Given the description of an element on the screen output the (x, y) to click on. 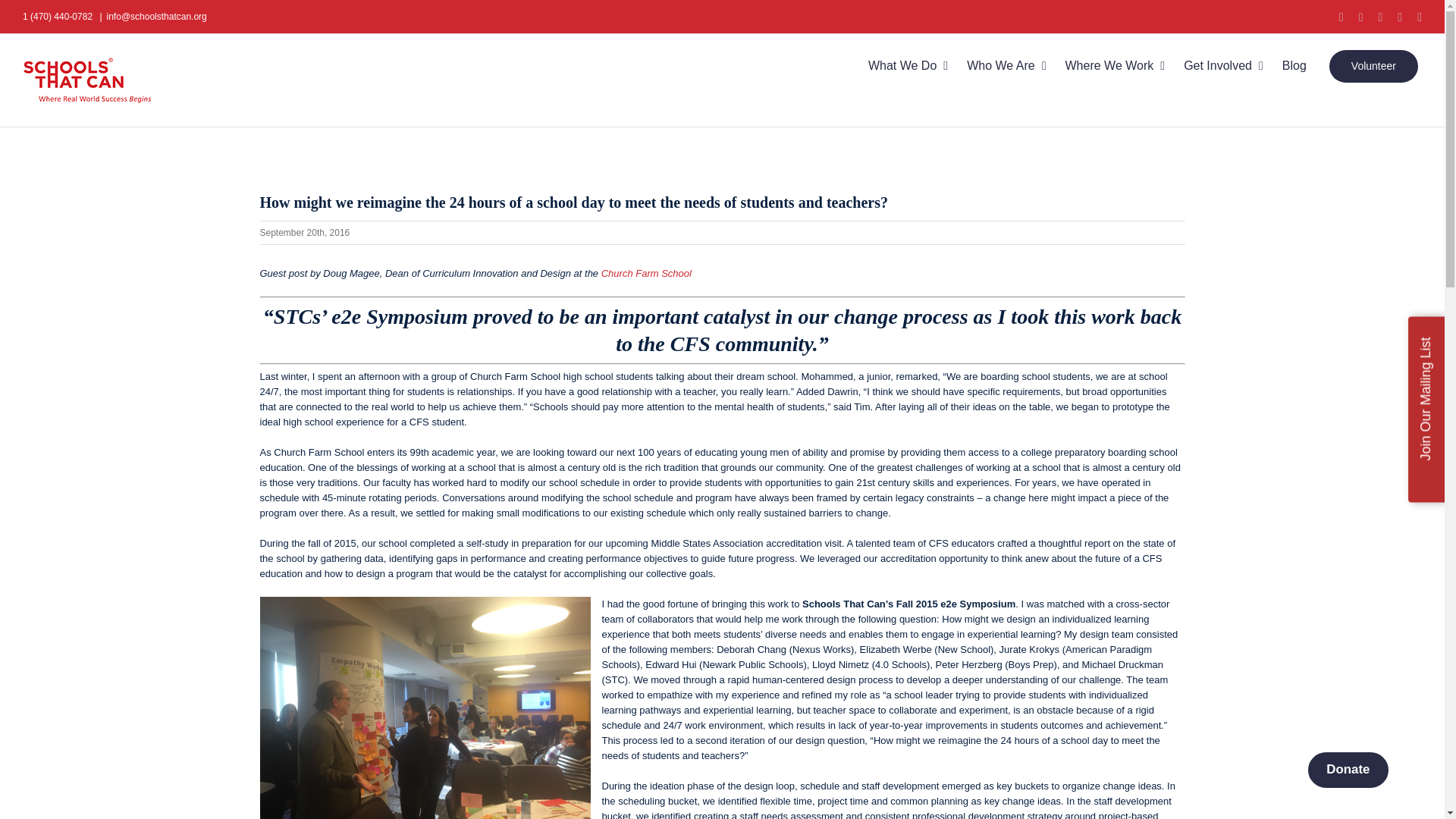
Facebook (1379, 16)
Volunteer (1373, 65)
YouTube (1419, 16)
Who We Are (1005, 65)
Where We Work (1115, 65)
Church Farm School (646, 273)
Twitter (1399, 16)
YouTube (1419, 16)
What We Do (907, 65)
Twitter (1399, 16)
Blog (1294, 65)
Facebook (1379, 16)
LinkedIn (1341, 16)
Instagram (1360, 16)
Get Involved (1223, 65)
